Given the description of an element on the screen output the (x, y) to click on. 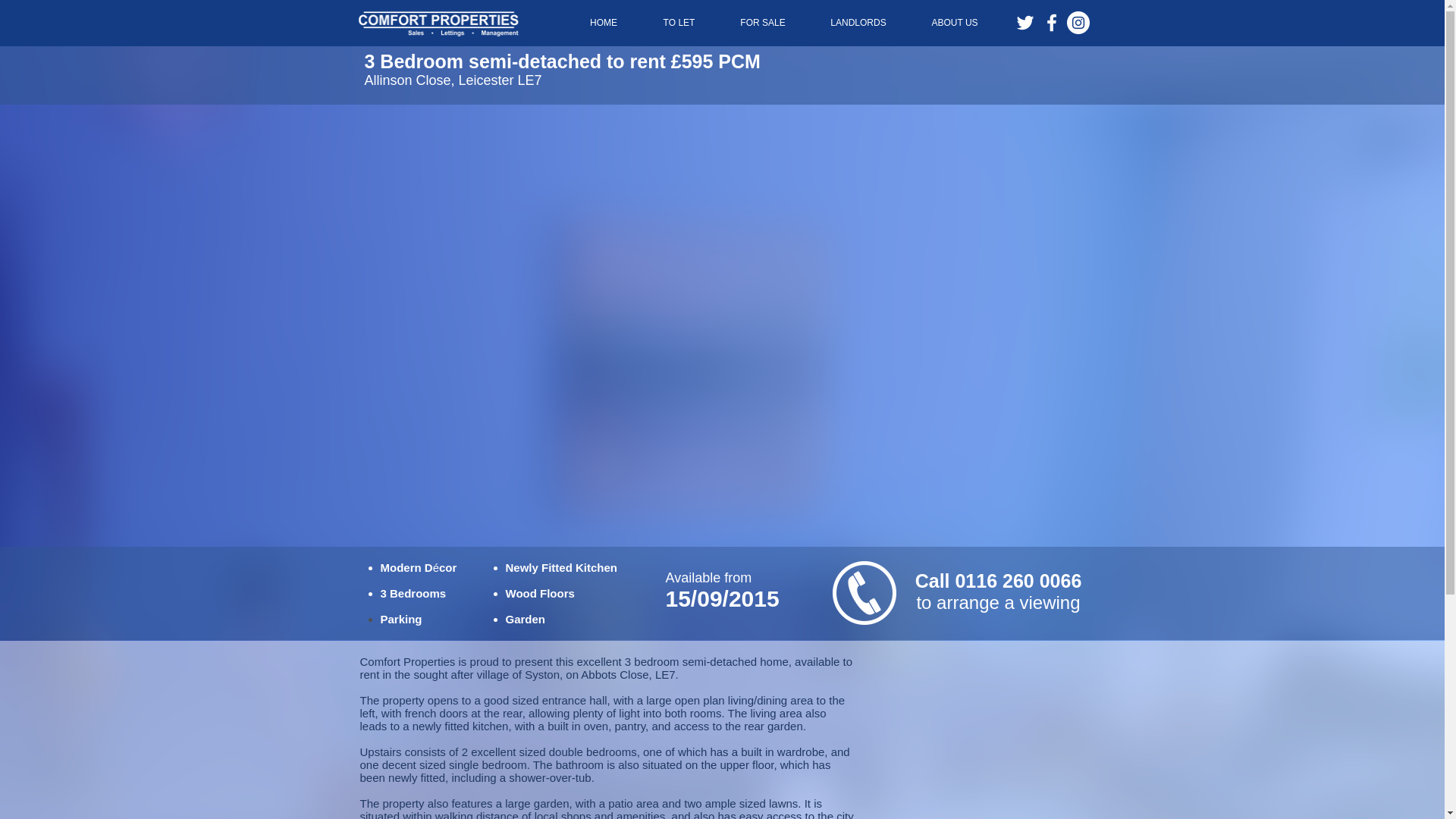
HOME (603, 22)
ABOUT US (954, 22)
FOR SALE (762, 22)
LANDLORDS (858, 22)
TO LET (678, 22)
Comfort Properties Logo White.png (438, 22)
